Given the description of an element on the screen output the (x, y) to click on. 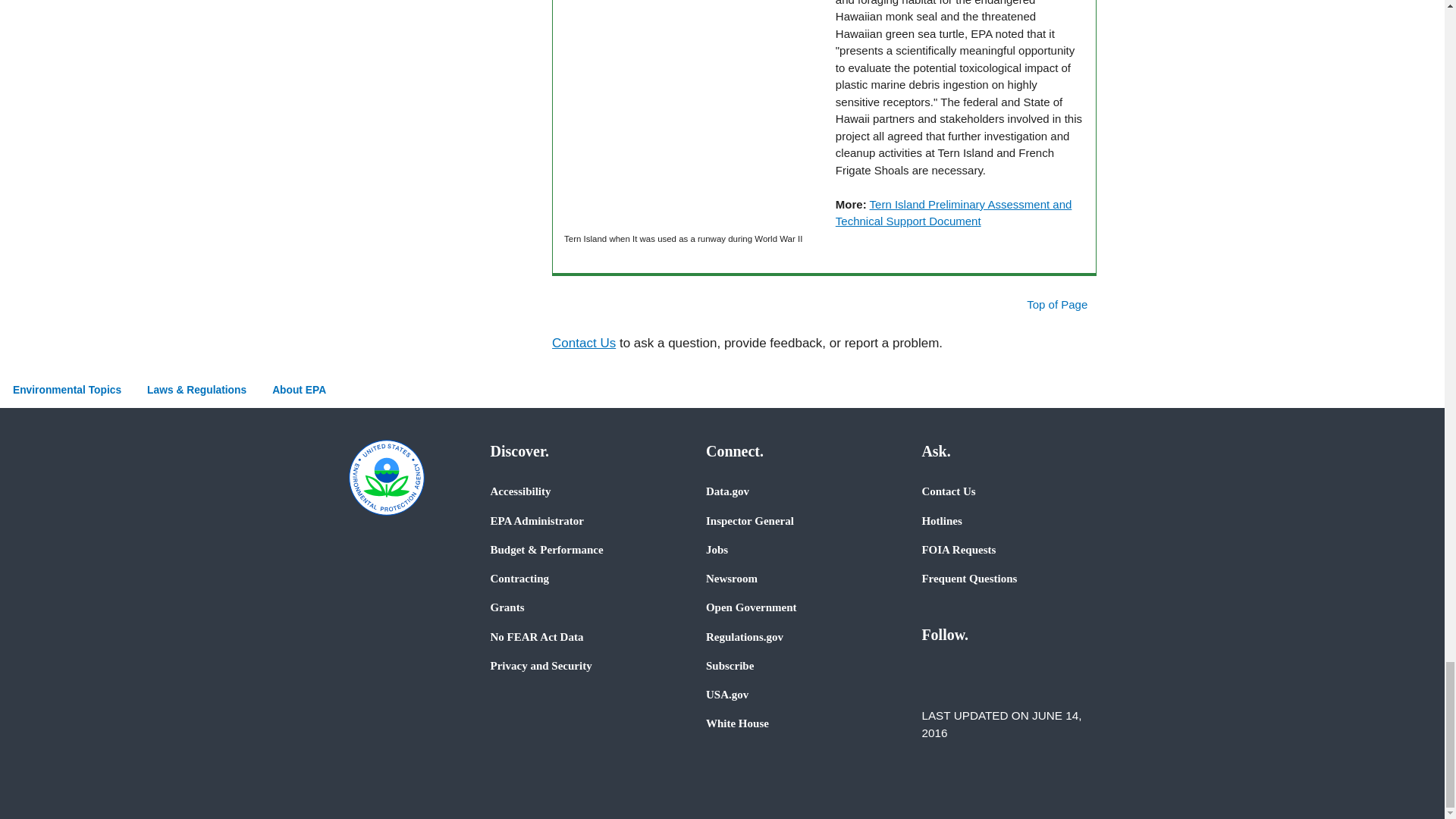
Environmental Topics (66, 389)
Tern Island when It was used as a runway during World War II (694, 115)
Top of Page (1050, 304)
Contact Us (583, 342)
